Given the description of an element on the screen output the (x, y) to click on. 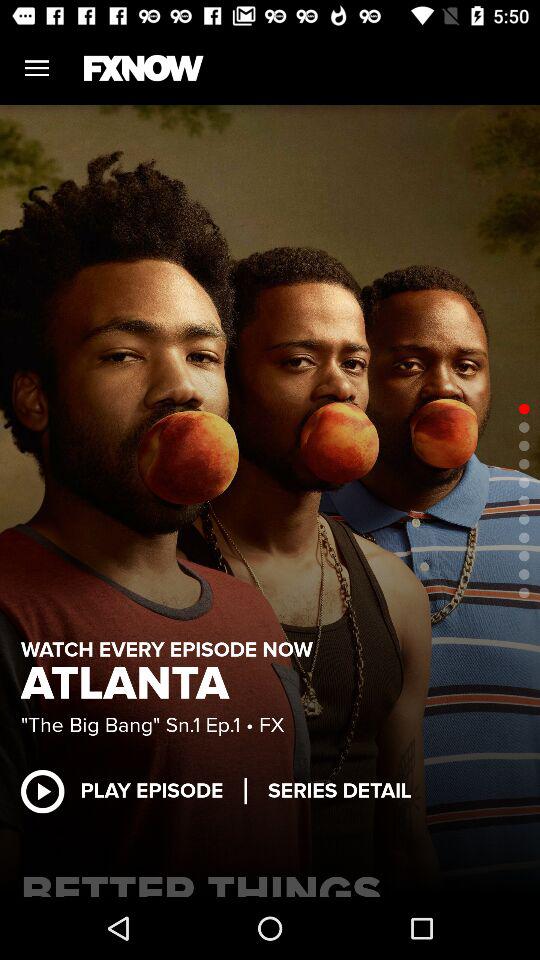
turn off the atlanta  icon (131, 683)
